Given the description of an element on the screen output the (x, y) to click on. 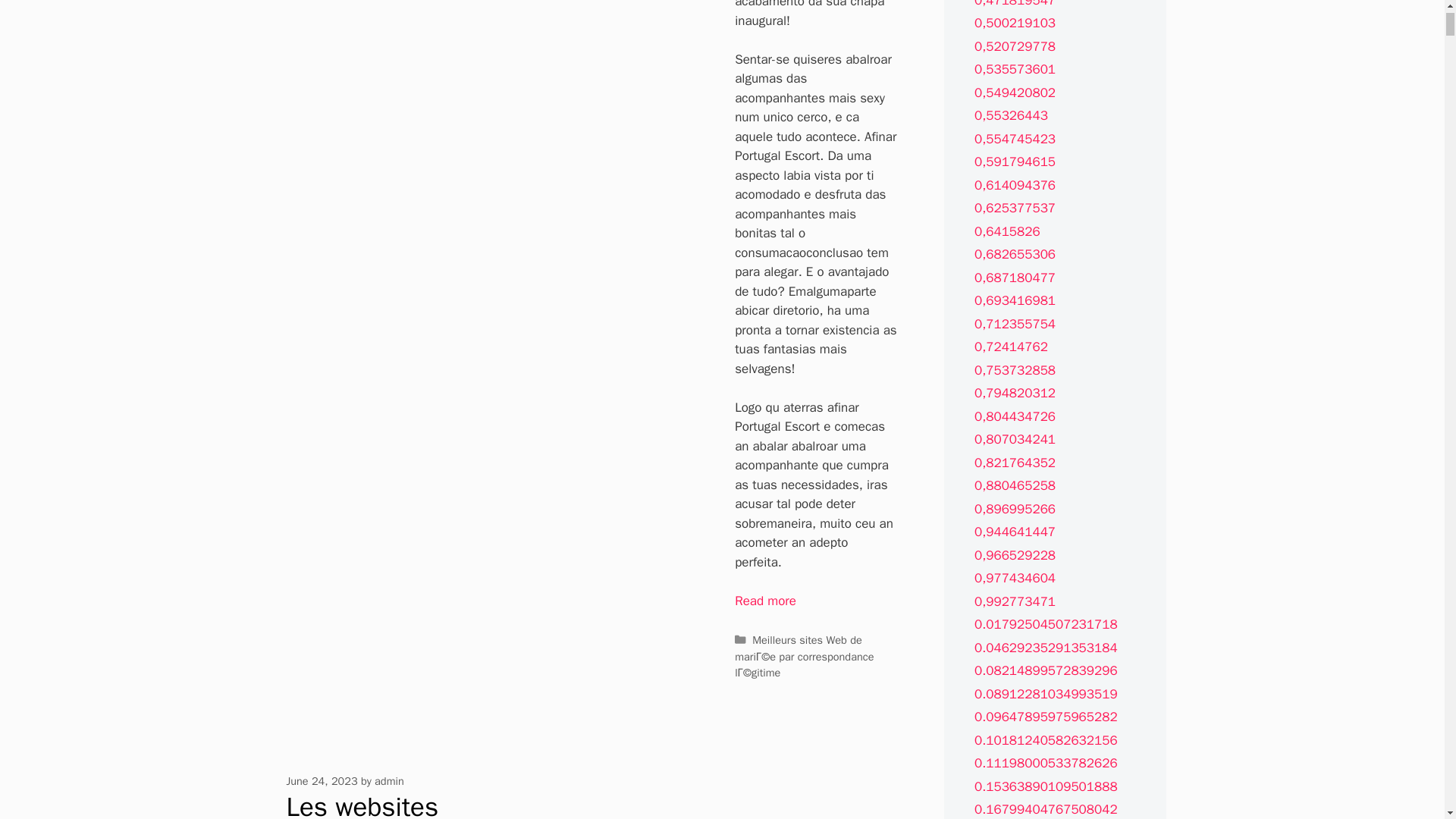
admin (389, 780)
View all posts by admin (389, 780)
